Given the description of an element on the screen output the (x, y) to click on. 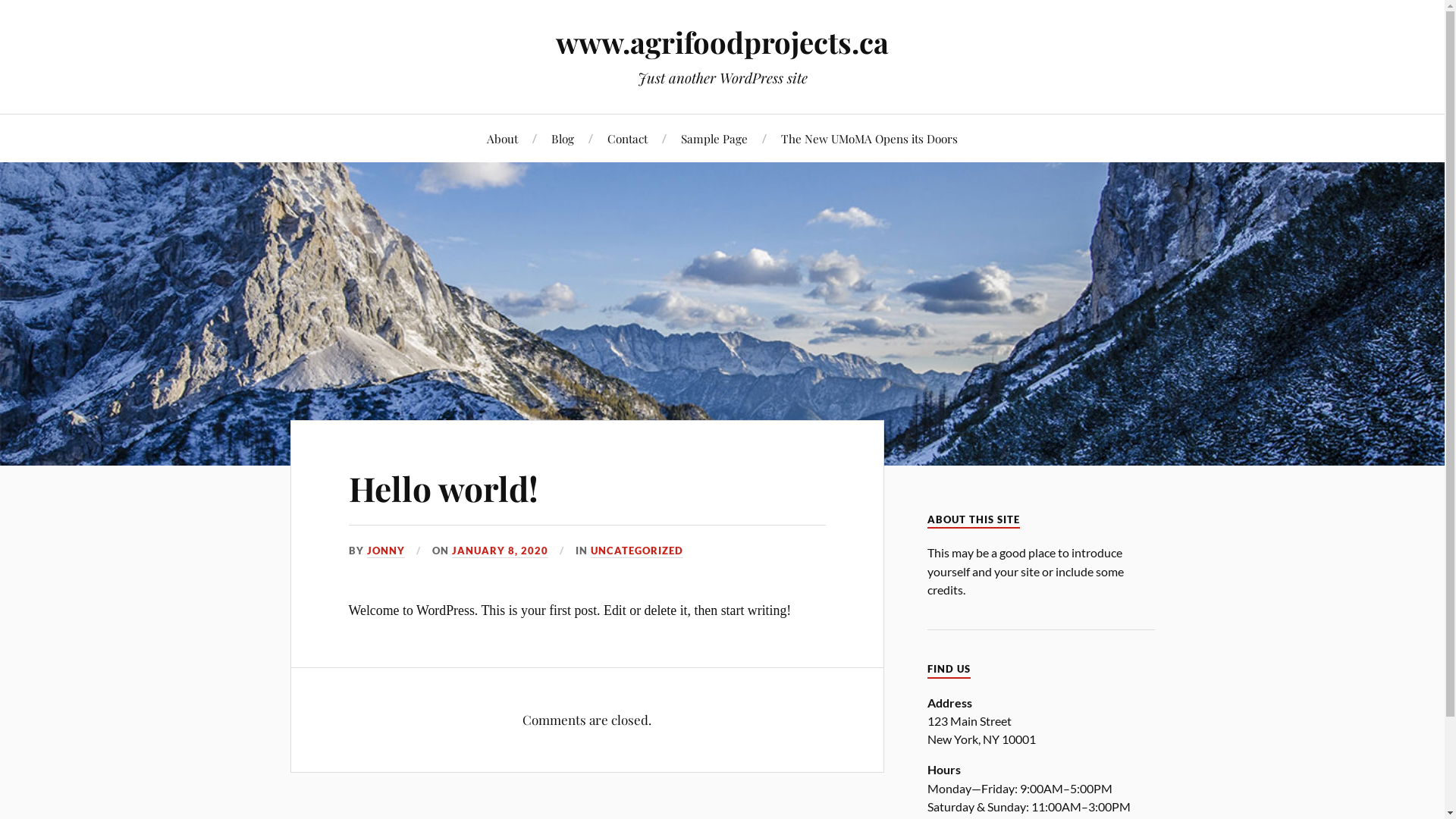
Blog Element type: text (562, 137)
UNCATEGORIZED Element type: text (636, 551)
The New UMoMA Opens its Doors Element type: text (869, 137)
www.agrifoodprojects.ca Element type: text (721, 41)
Hello world! Element type: text (443, 487)
Sample Page Element type: text (713, 137)
JANUARY 8, 2020 Element type: text (499, 551)
About Element type: text (501, 137)
Contact Element type: text (627, 137)
JONNY Element type: text (385, 551)
